Given the description of an element on the screen output the (x, y) to click on. 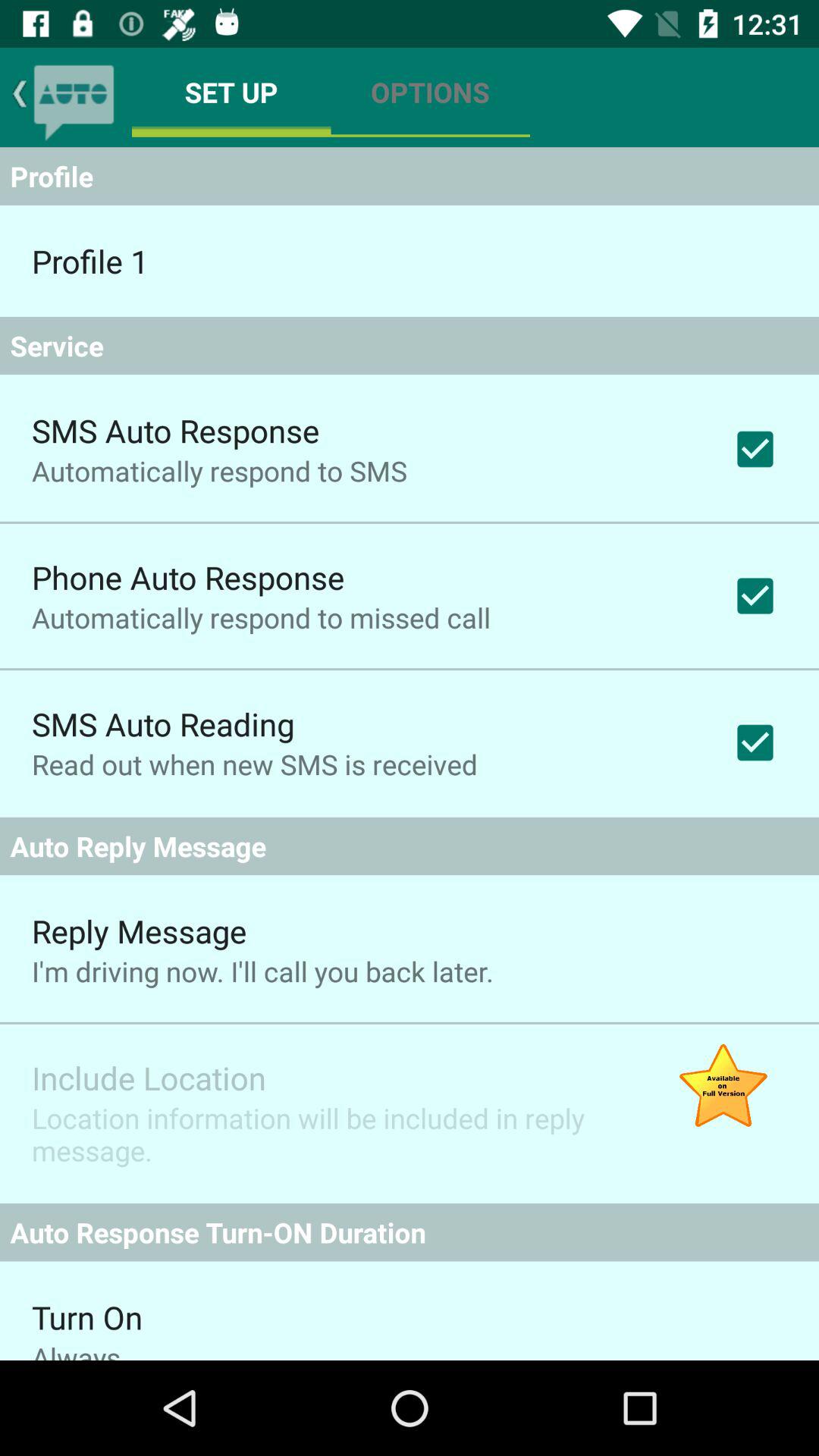
press the icon below reply message (262, 971)
